Given the description of an element on the screen output the (x, y) to click on. 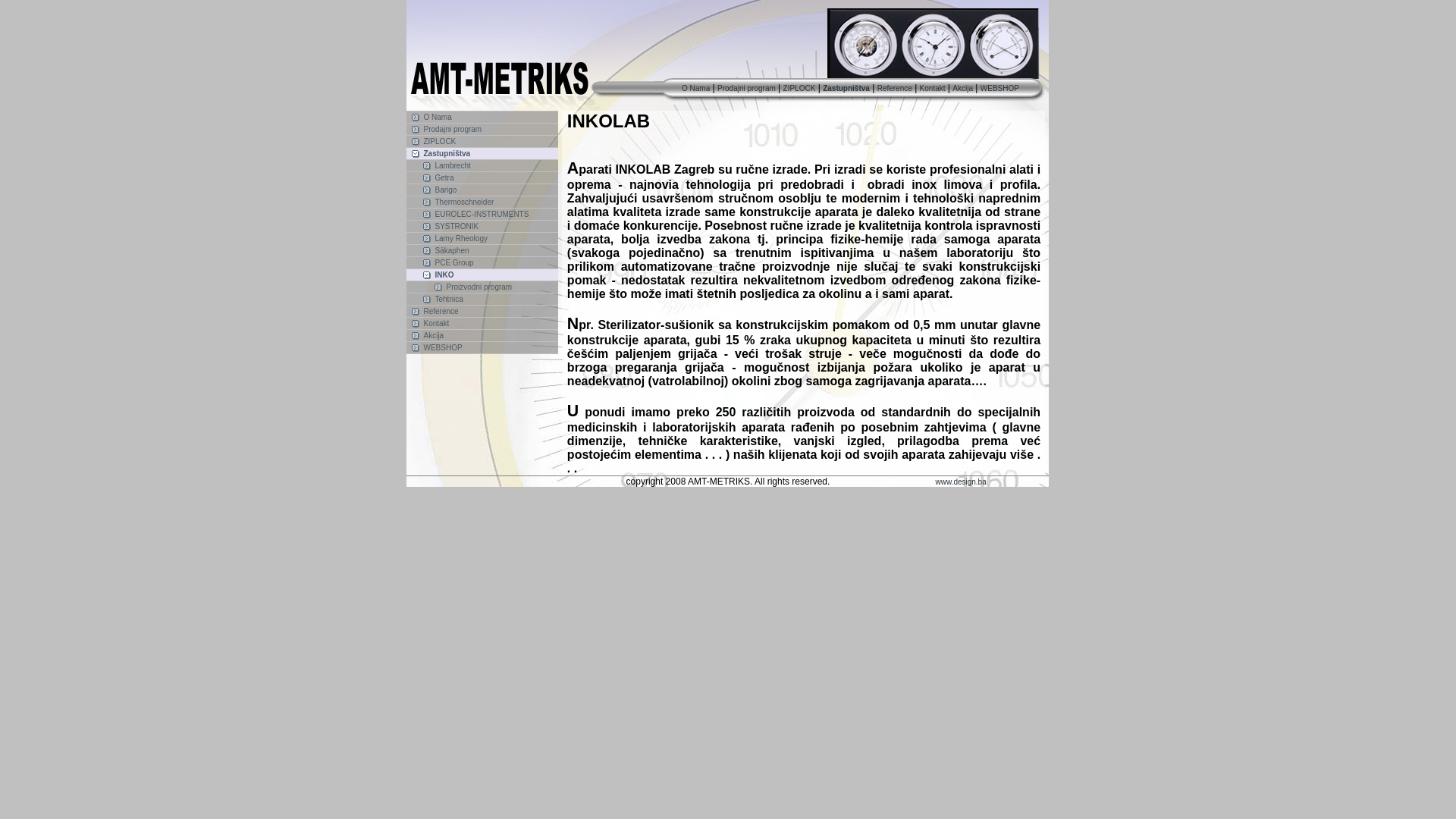
Advertisement Element type: hover (148, 242)
INKO Element type: text (482, 274)
www.design.ba Element type: text (960, 481)
Advertisement Element type: hover (1307, 242)
Prodajni program Element type: text (452, 129)
Lambrecht Element type: text (452, 165)
Lambrecht Element type: text (482, 165)
Tehtnica Element type: text (482, 298)
Kontakt Element type: text (435, 323)
Thermoschneider Element type: text (463, 201)
Lamy Rheology Element type: text (482, 238)
ZIPLOCK Element type: text (799, 87)
SYSTRONIK Element type: text (456, 226)
PCE Group Element type: text (482, 262)
Thermoschneider Element type: text (482, 201)
PCE Group Element type: text (453, 262)
Getra Element type: text (443, 177)
EUROLEC-INSTRUMENTS Element type: text (481, 214)
Getra Element type: text (482, 177)
EUROLEC-INSTRUMENTS Element type: text (482, 213)
Proizvodni program Element type: text (478, 286)
O Nama Element type: text (482, 116)
Lamy Rheology Element type: text (460, 238)
Barigo Element type: text (482, 189)
Kontakt Element type: text (932, 87)
Kontakt Element type: text (482, 323)
Akcija Element type: text (433, 335)
SYSTRONIK Element type: text (482, 226)
Reference Element type: text (482, 310)
Barigo Element type: text (445, 189)
Reference Element type: text (440, 311)
Prodajni program Element type: text (746, 87)
ZIPLOCK Element type: text (482, 141)
Prodajni program Element type: text (482, 128)
Akcija Element type: text (962, 87)
Proizvodni program Element type: text (482, 286)
WEBSHOP Element type: text (999, 87)
WEBSHOP Element type: text (482, 347)
ZIPLOCK Element type: text (439, 141)
Reference Element type: text (894, 87)
Tehtnica Element type: text (448, 298)
INKO Element type: text (443, 274)
O Nama Element type: text (437, 116)
Akcija Element type: text (482, 335)
WEBSHOP Element type: text (442, 347)
O Nama Element type: text (695, 87)
